Given the description of an element on the screen output the (x, y) to click on. 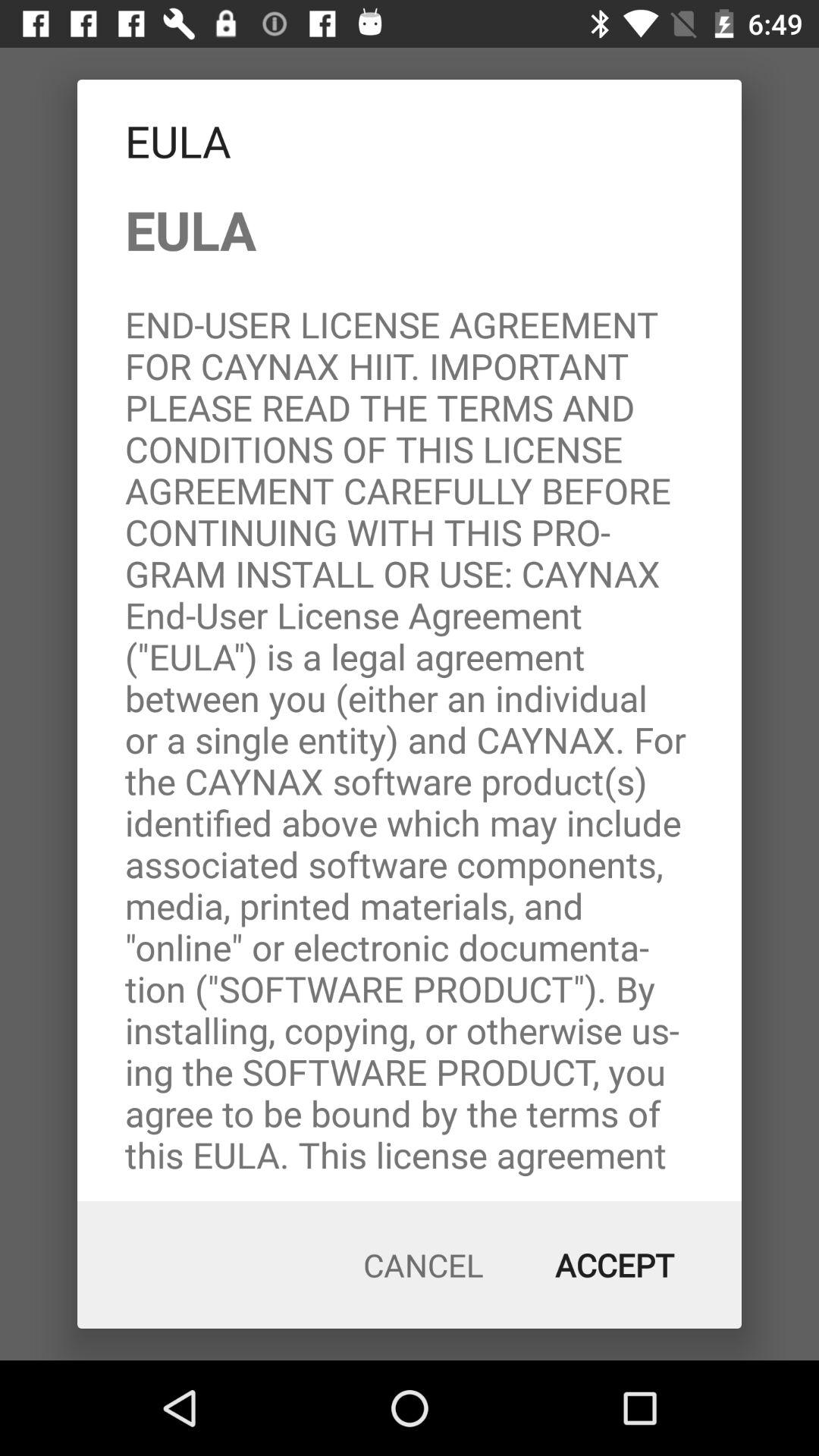
tap the accept (613, 1264)
